Given the description of an element on the screen output the (x, y) to click on. 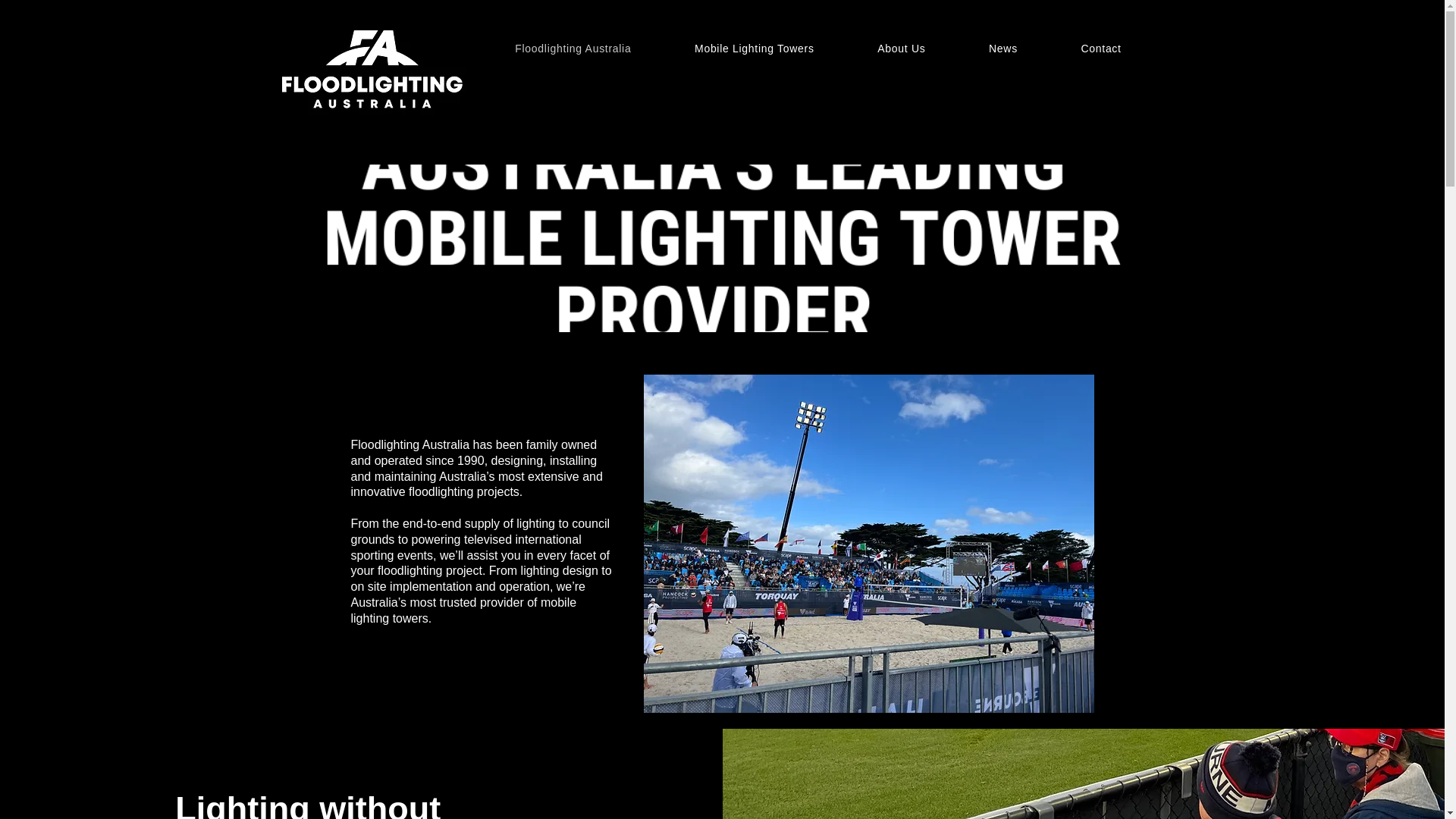
Floodlighting Australia Element type: text (573, 48)
About Us Element type: text (900, 48)
Mobile Lighting Towers Element type: text (753, 48)
Contact Element type: text (1101, 48)
Logo-02.jpg Element type: hover (371, 67)
IMG_4890_2.heic.png Element type: hover (868, 543)
News Element type: text (1002, 48)
